Given the description of an element on the screen output the (x, y) to click on. 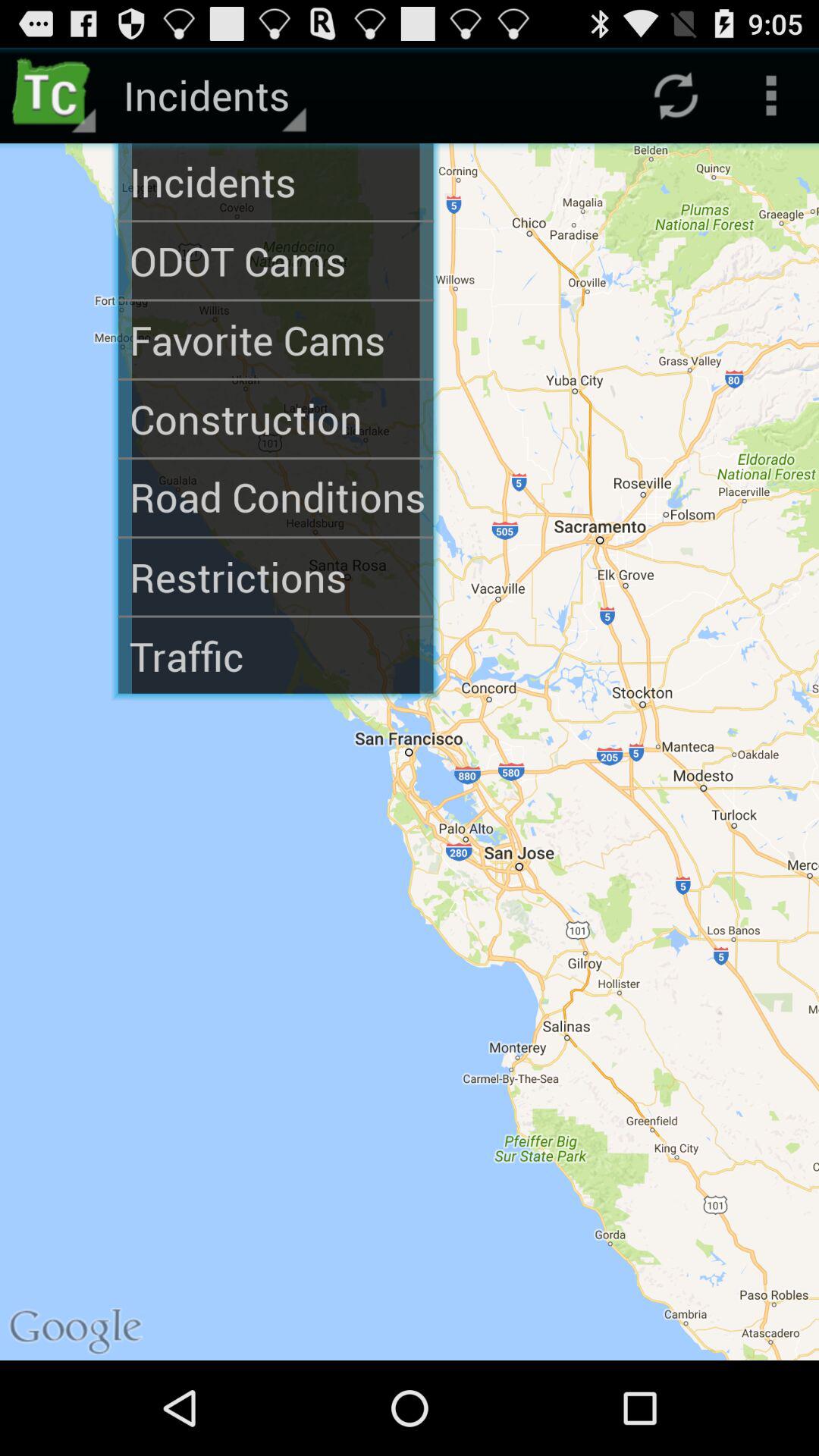
flip to restrictions icon (275, 576)
